Given the description of an element on the screen output the (x, y) to click on. 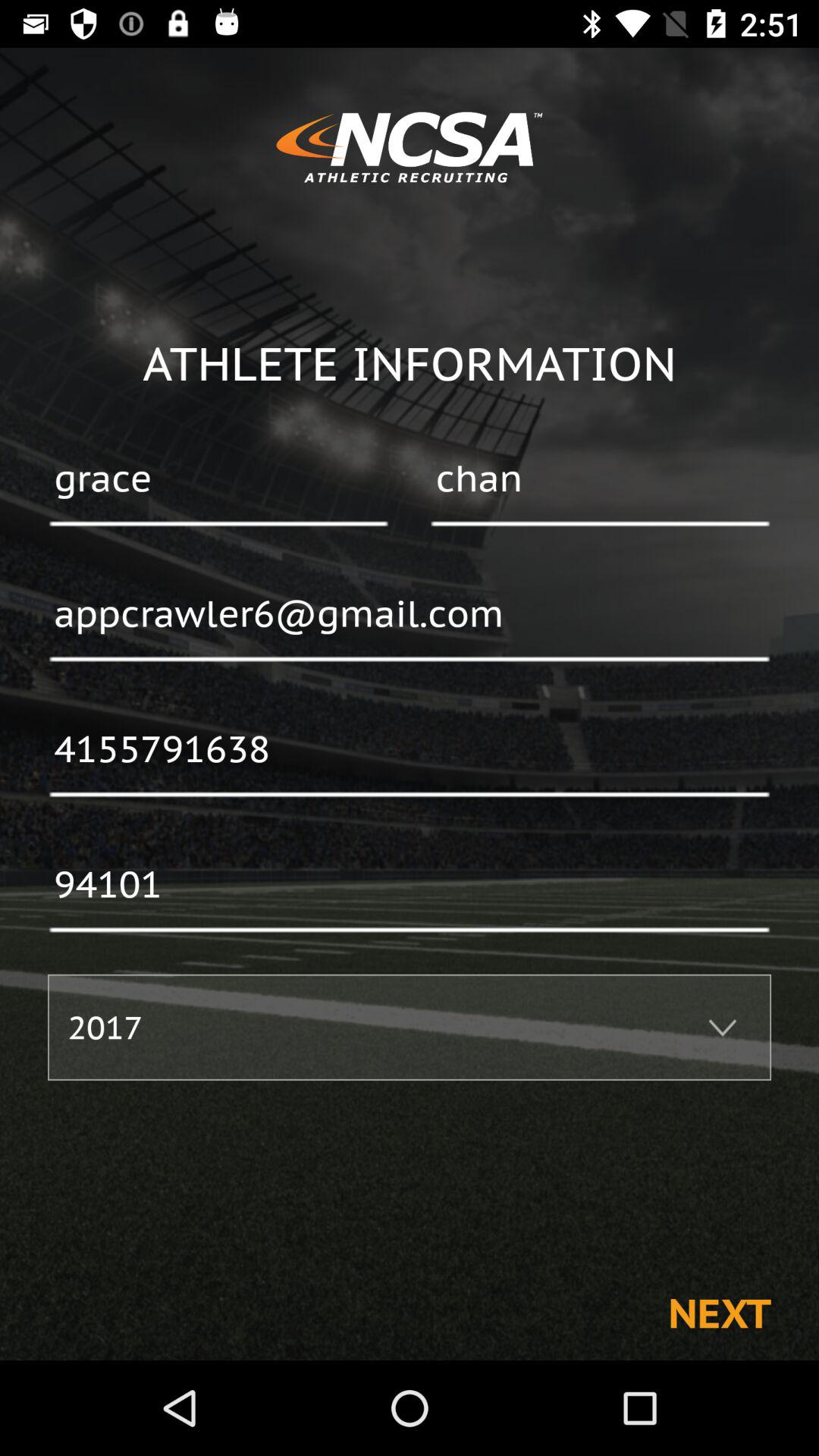
click grace item (218, 479)
